Given the description of an element on the screen output the (x, y) to click on. 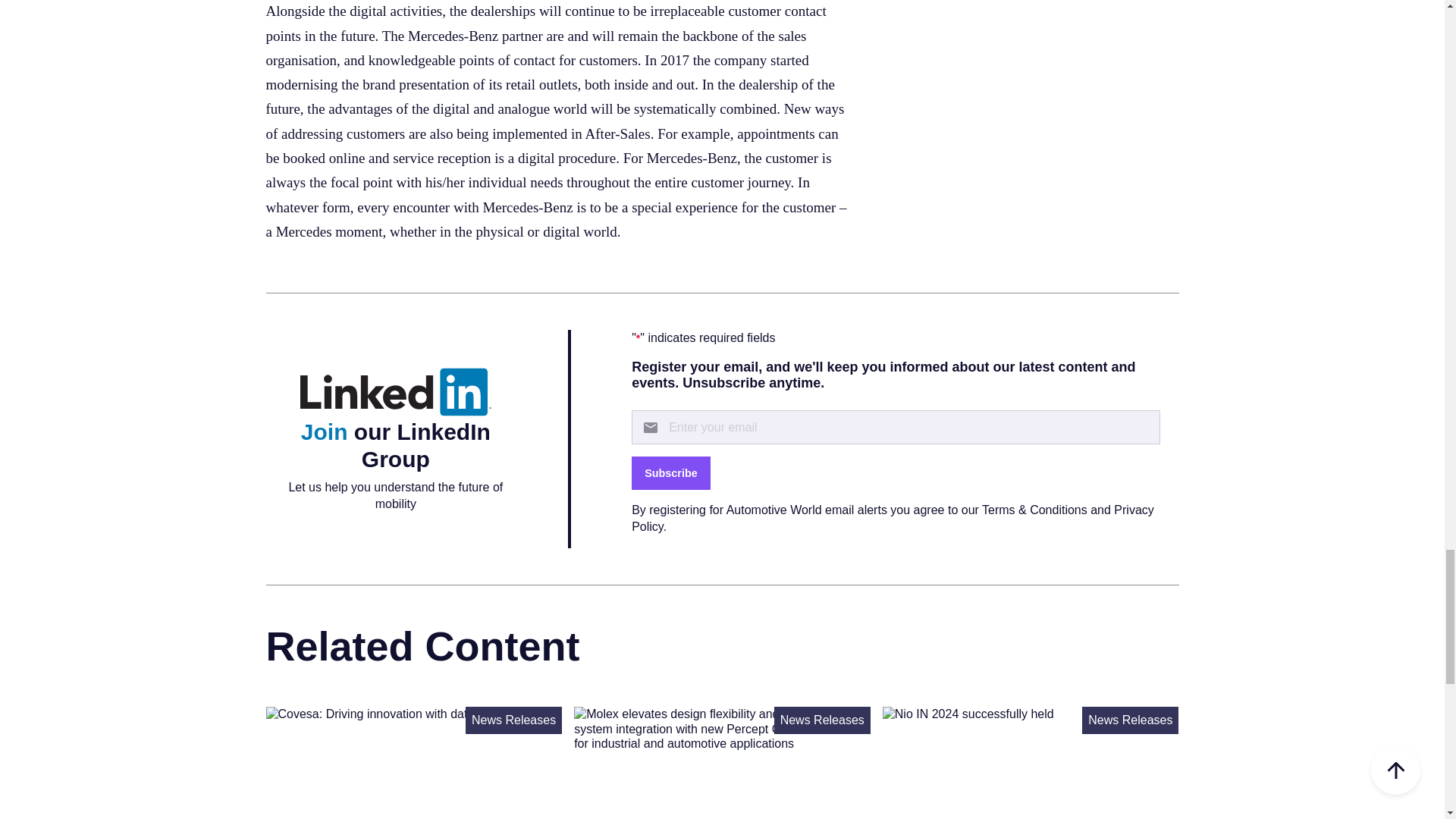
Subscribe (670, 472)
